Given the description of an element on the screen output the (x, y) to click on. 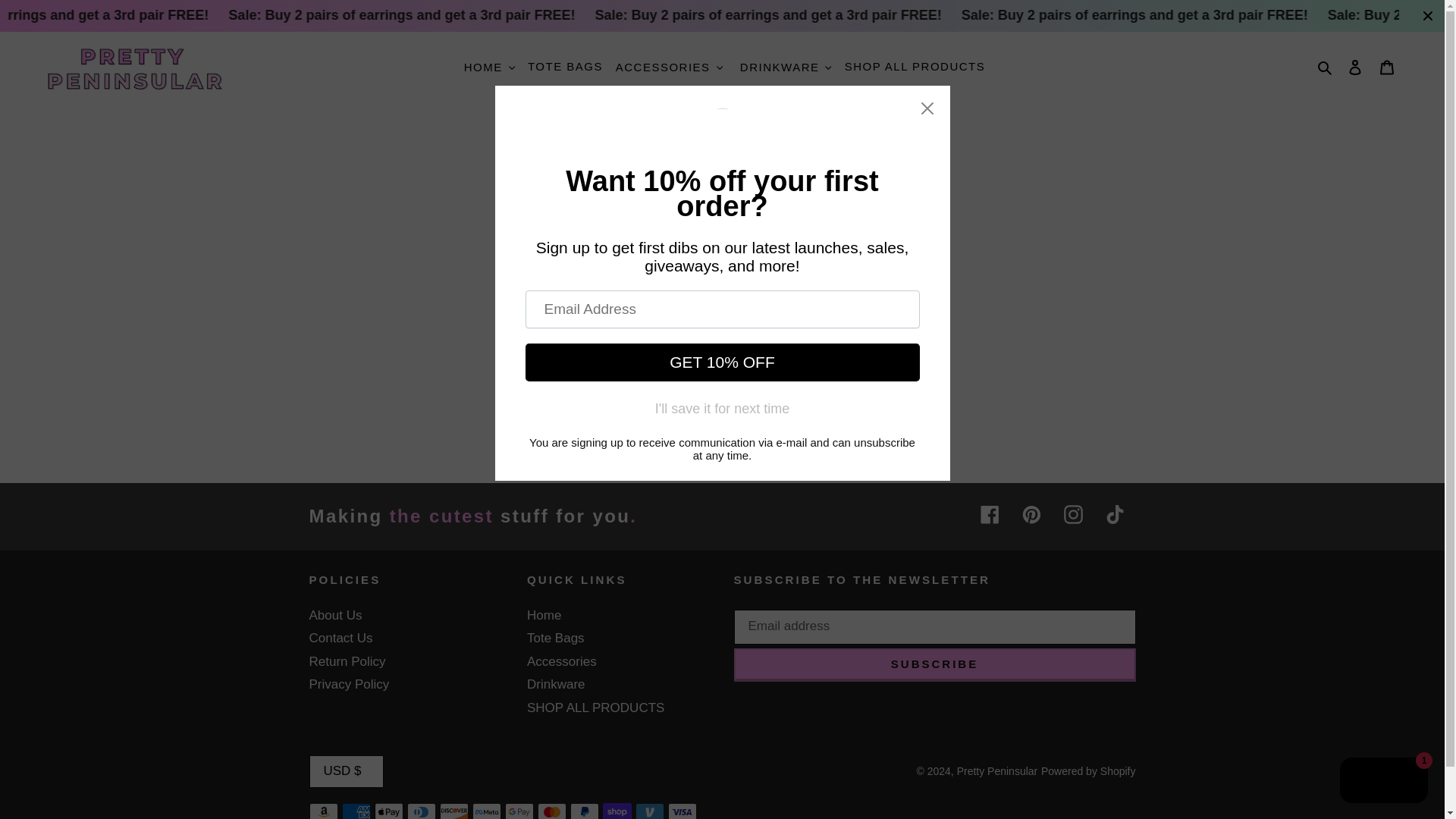
ACCESSORIES (662, 67)
DRINKWARE (785, 66)
DRINKWARE (779, 67)
HOME (489, 66)
Shopify online store chat (1383, 781)
SHOP ALL PRODUCTS (914, 67)
Log in (1355, 67)
TOTE BAGS (564, 67)
Search (1326, 66)
Cart (1387, 67)
ACCESSORIES (668, 66)
HOME (483, 67)
